Given the description of an element on the screen output the (x, y) to click on. 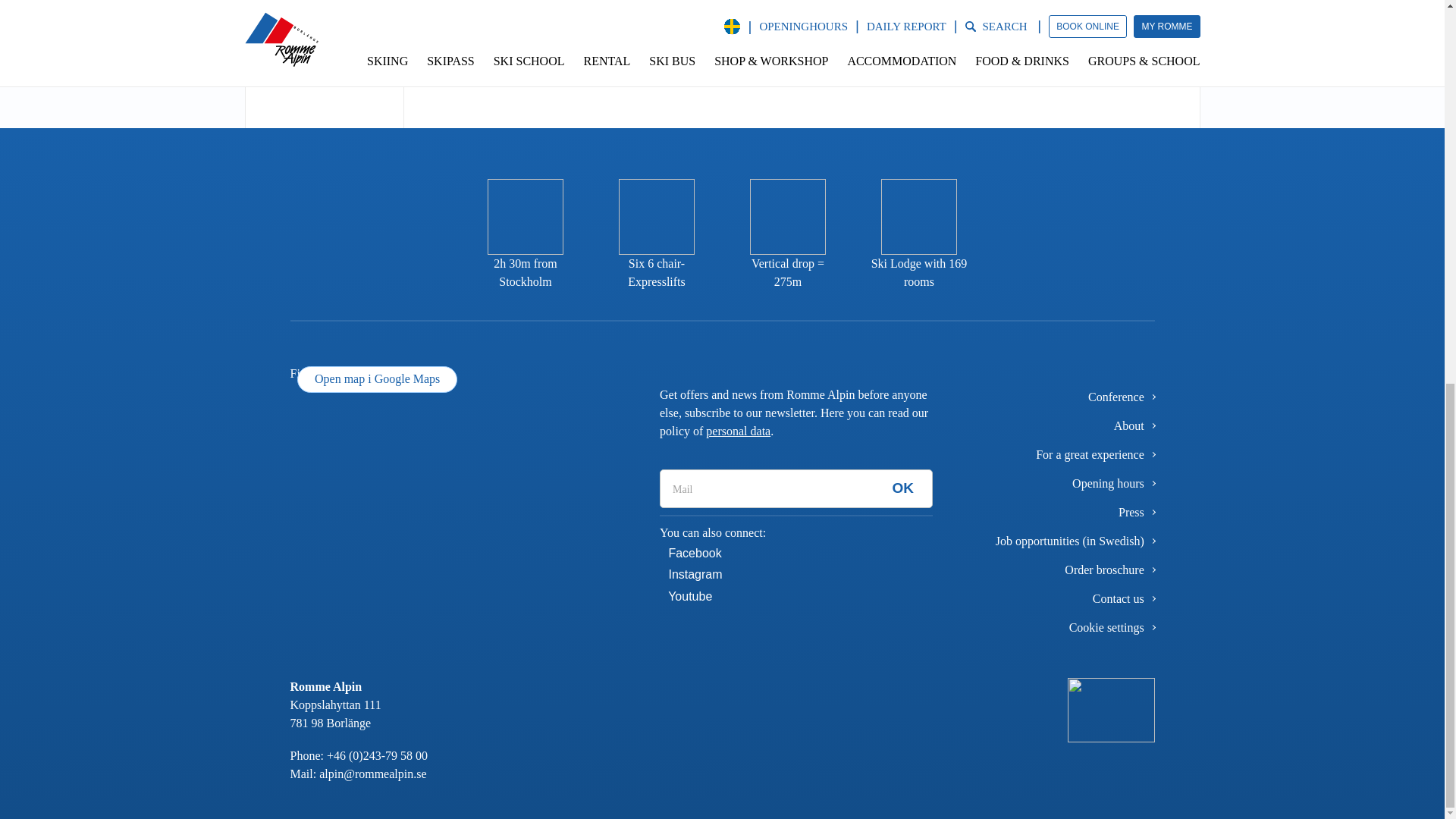
Open map i Google Maps (463, 399)
personal data (738, 431)
To home page (1110, 708)
Open map i Google Maps (377, 379)
